Given the description of an element on the screen output the (x, y) to click on. 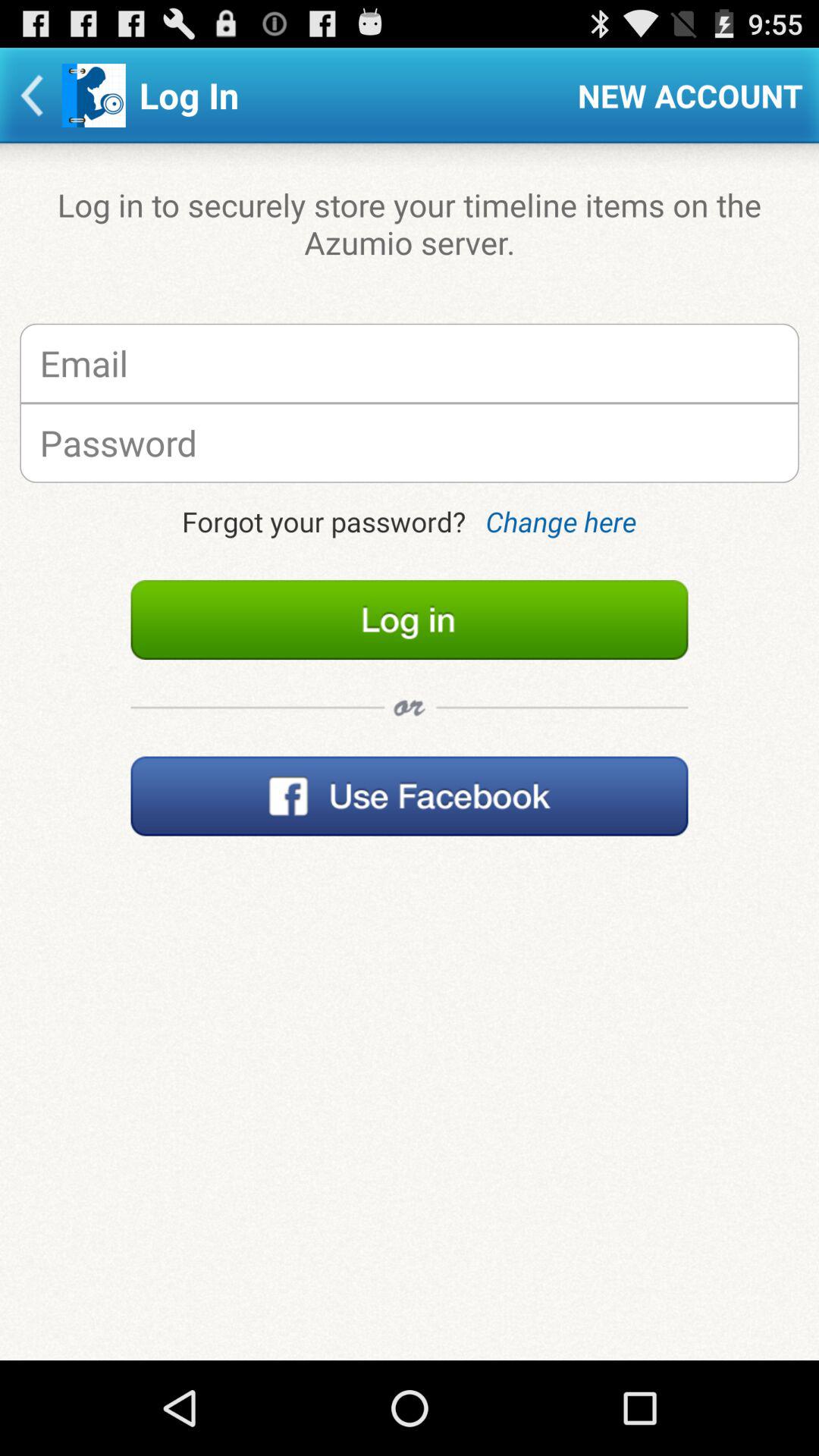
open a keyboard (409, 442)
